Given the description of an element on the screen output the (x, y) to click on. 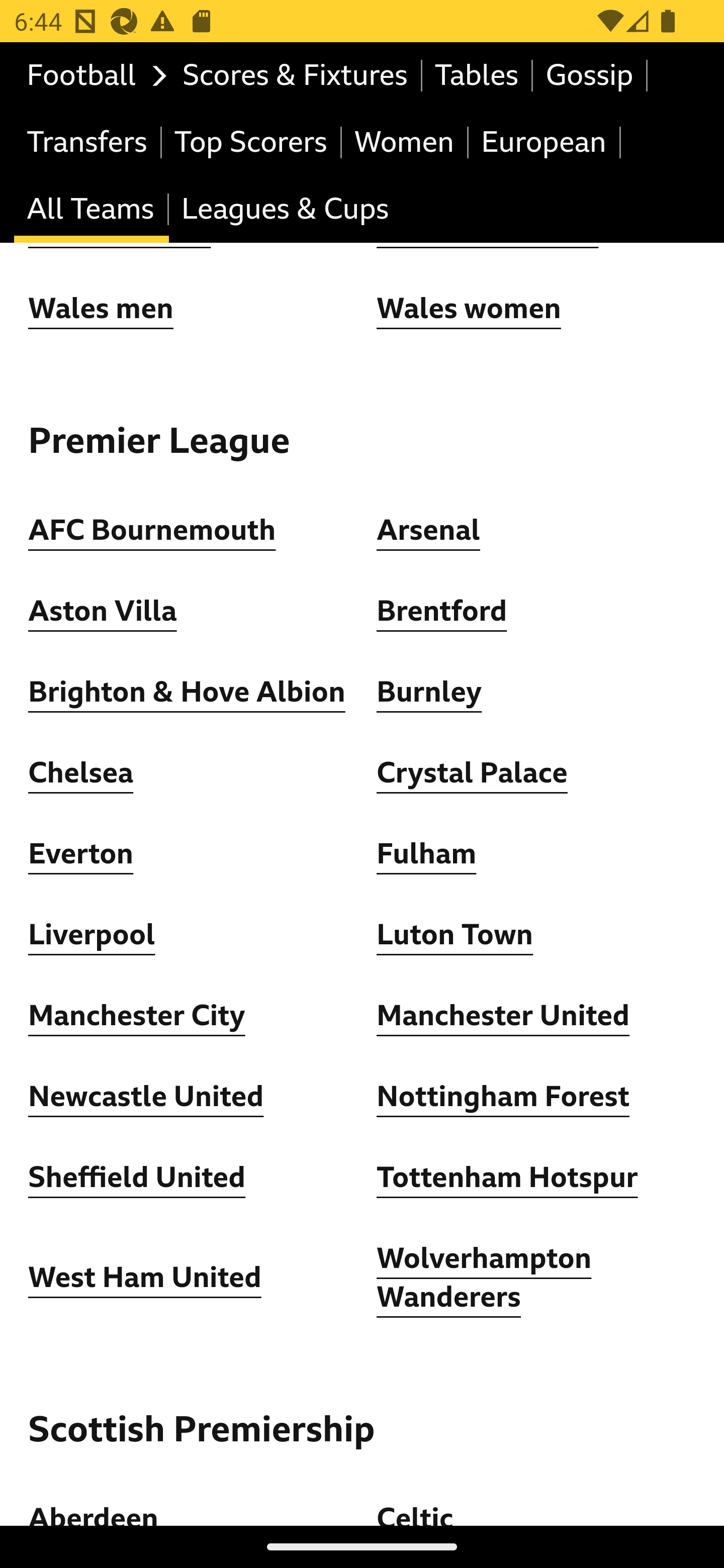
Wales men (100, 309)
Wales women (468, 309)
AFC Bournemouth (151, 531)
Arsenal (428, 531)
Aston Villa (102, 612)
Brentford (442, 612)
Brighton & Hove Albion (187, 692)
Burnley (429, 692)
Chelsea (80, 773)
Crystal Palace (472, 773)
Everton (80, 854)
Fulham (426, 854)
Liverpool (92, 935)
Luton Town (455, 935)
Manchester City (137, 1016)
Manchester United (503, 1016)
Newcastle United (146, 1097)
Nottingham Forest (503, 1097)
Sheffield United (137, 1178)
Tottenham Hotspur (507, 1178)
Wolverhampton Wanderers (484, 1278)
West Ham United (145, 1278)
